Given the description of an element on the screen output the (x, y) to click on. 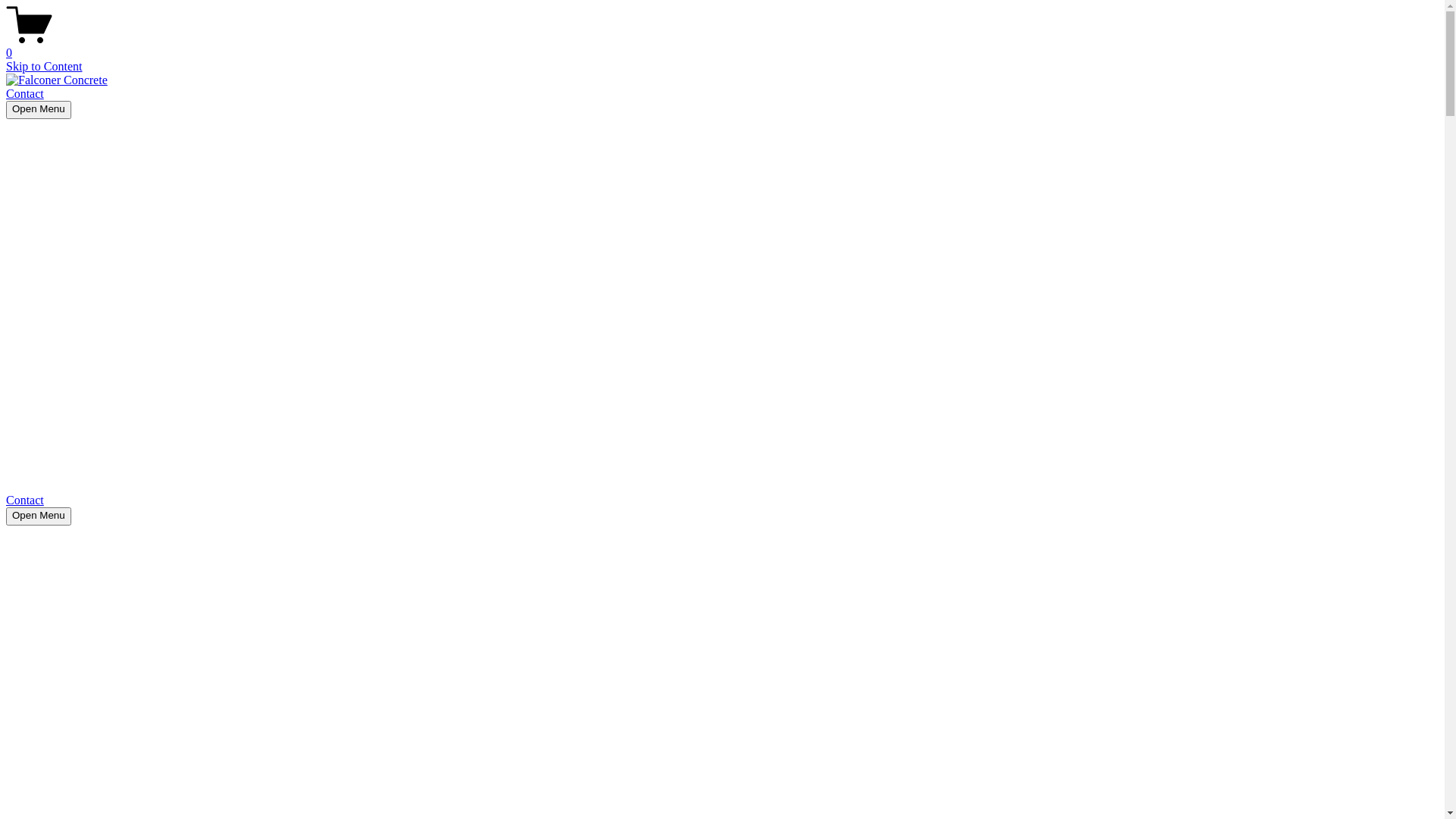
Skip to Content Element type: text (43, 65)
0 Element type: text (722, 45)
Open Menu Element type: text (38, 109)
Contact Element type: text (24, 499)
Contact Element type: text (24, 93)
Open Menu Element type: text (38, 516)
